Given the description of an element on the screen output the (x, y) to click on. 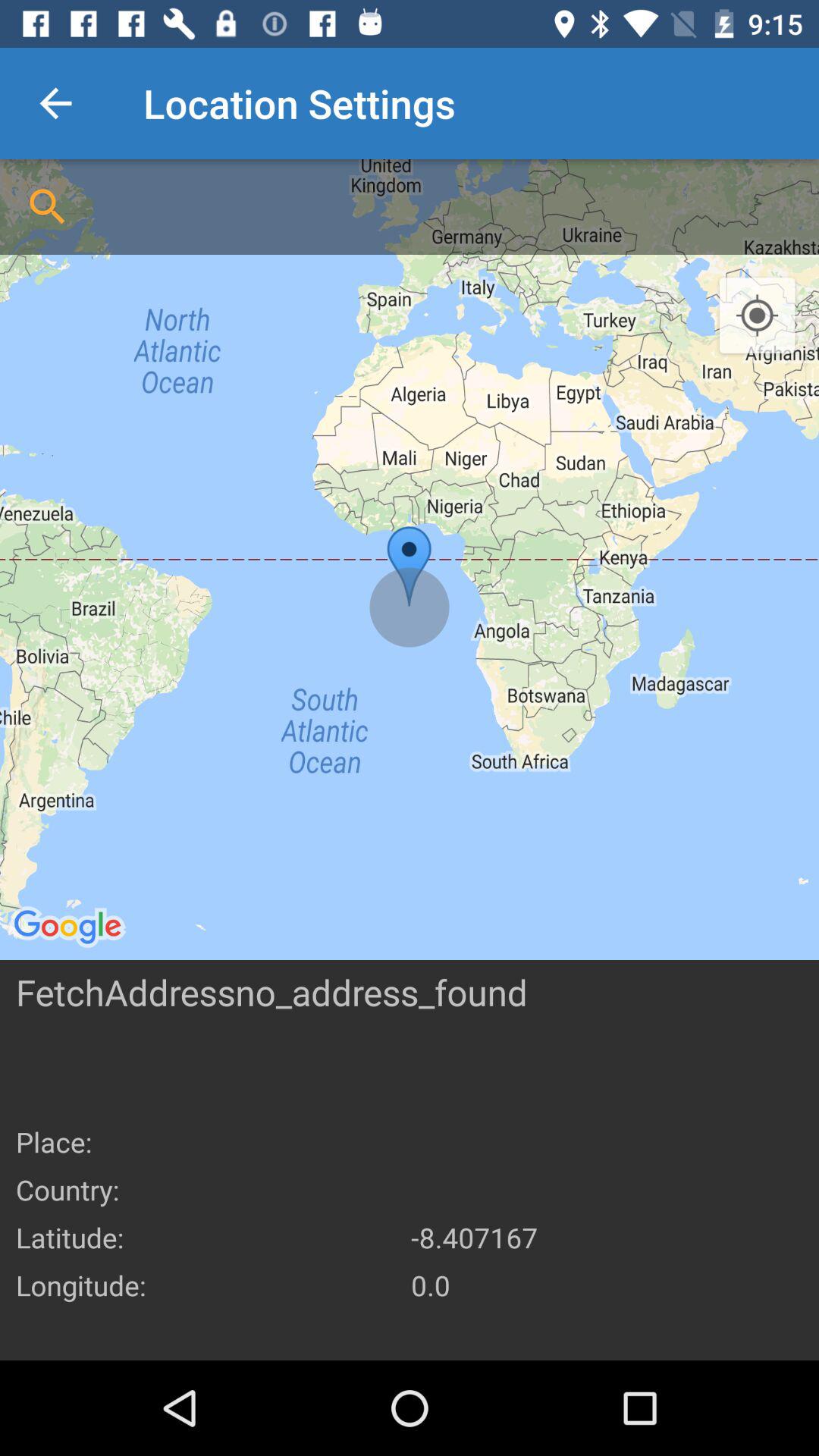
turn off the icon above fetchaddressno_address_found item (409, 559)
